Given the description of an element on the screen output the (x, y) to click on. 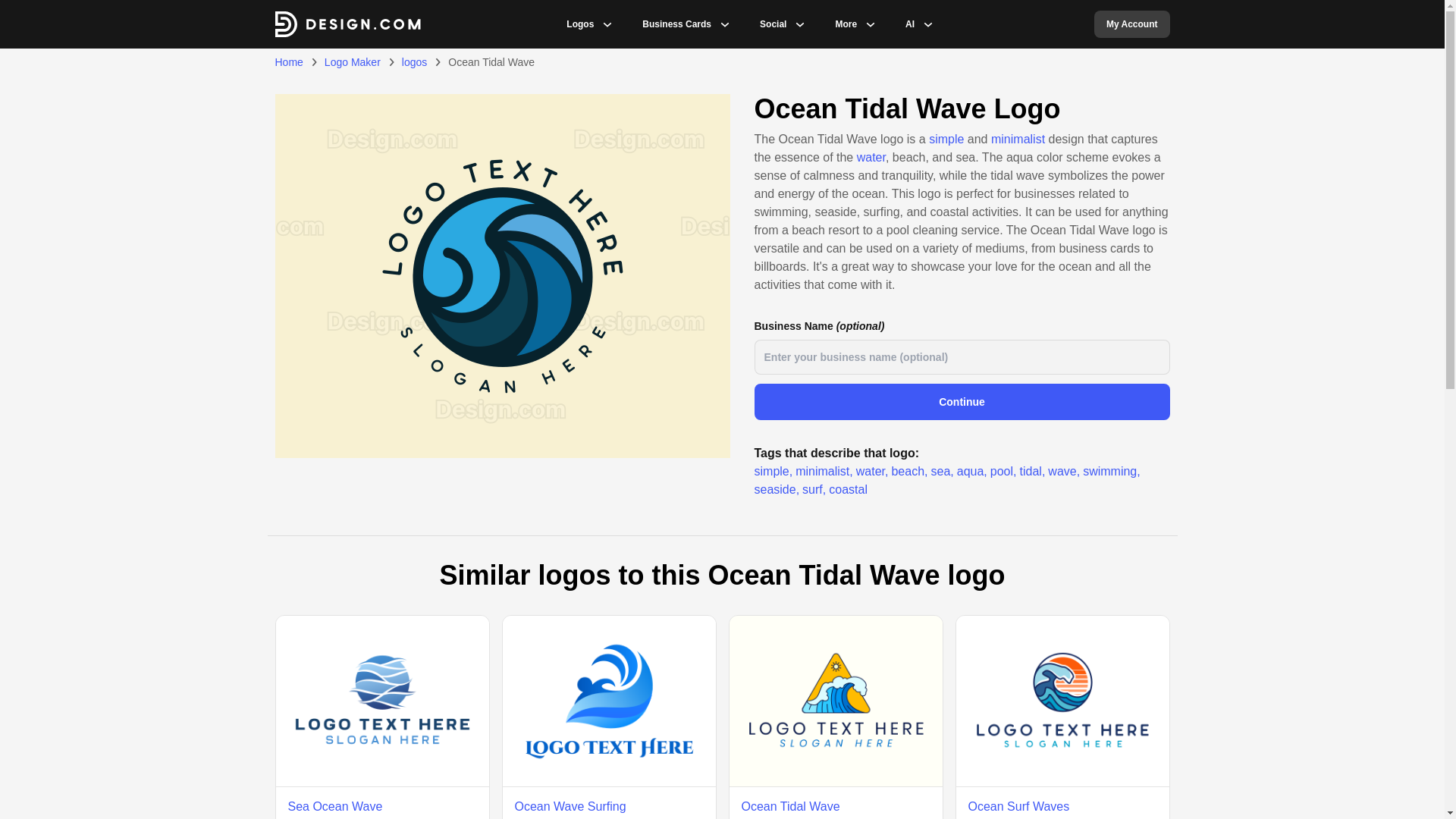
Logos (580, 24)
Site Logo (347, 24)
